Given the description of an element on the screen output the (x, y) to click on. 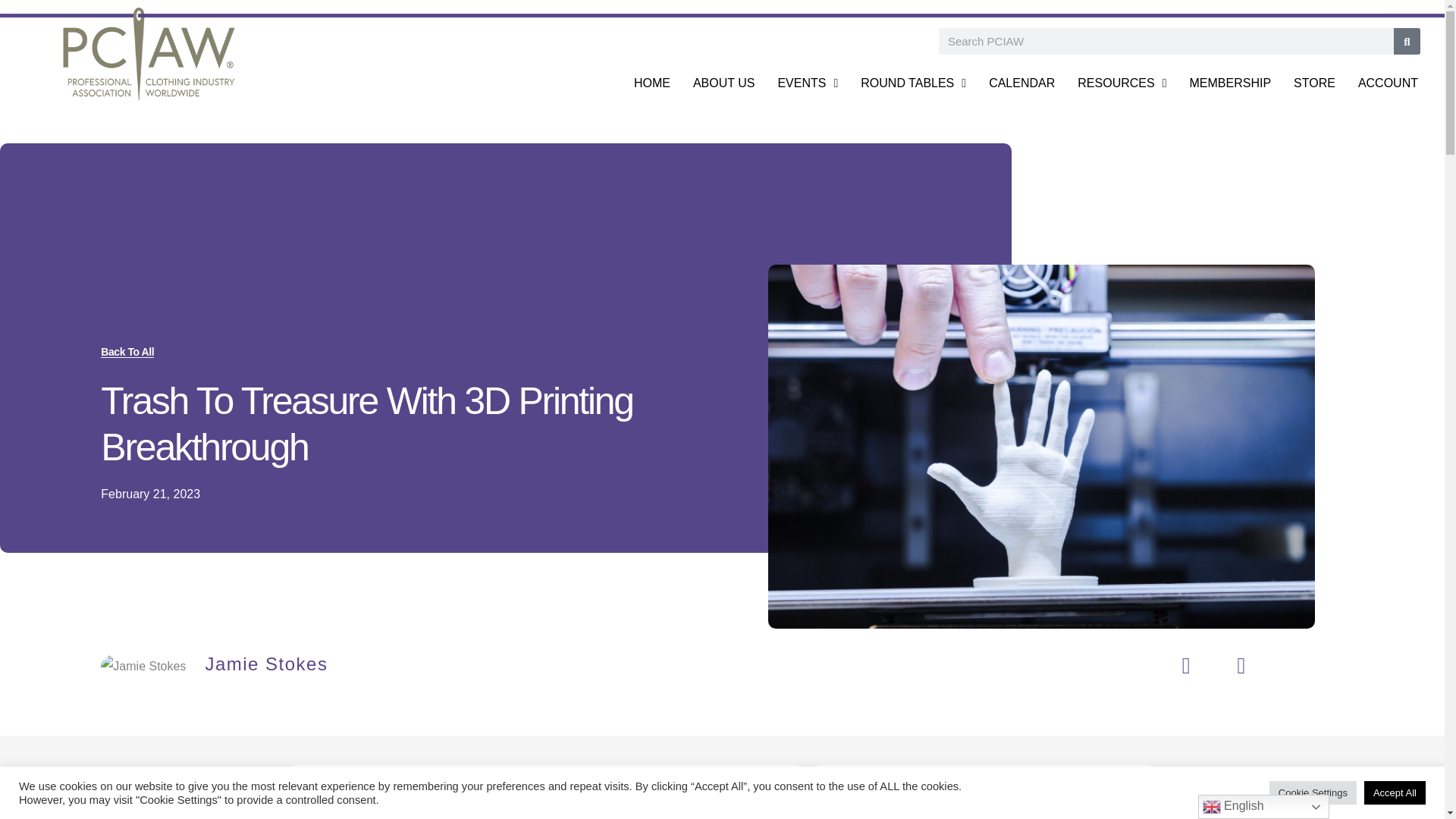
HOME (652, 82)
CALENDAR (1020, 82)
ACCOUNT (1387, 82)
STORE (1314, 82)
ABOUT US (724, 82)
ROUND TABLES (912, 82)
MEMBERSHIP (1229, 82)
EVENTS (806, 82)
Search (1407, 40)
RESOURCES (1121, 82)
